Given the description of an element on the screen output the (x, y) to click on. 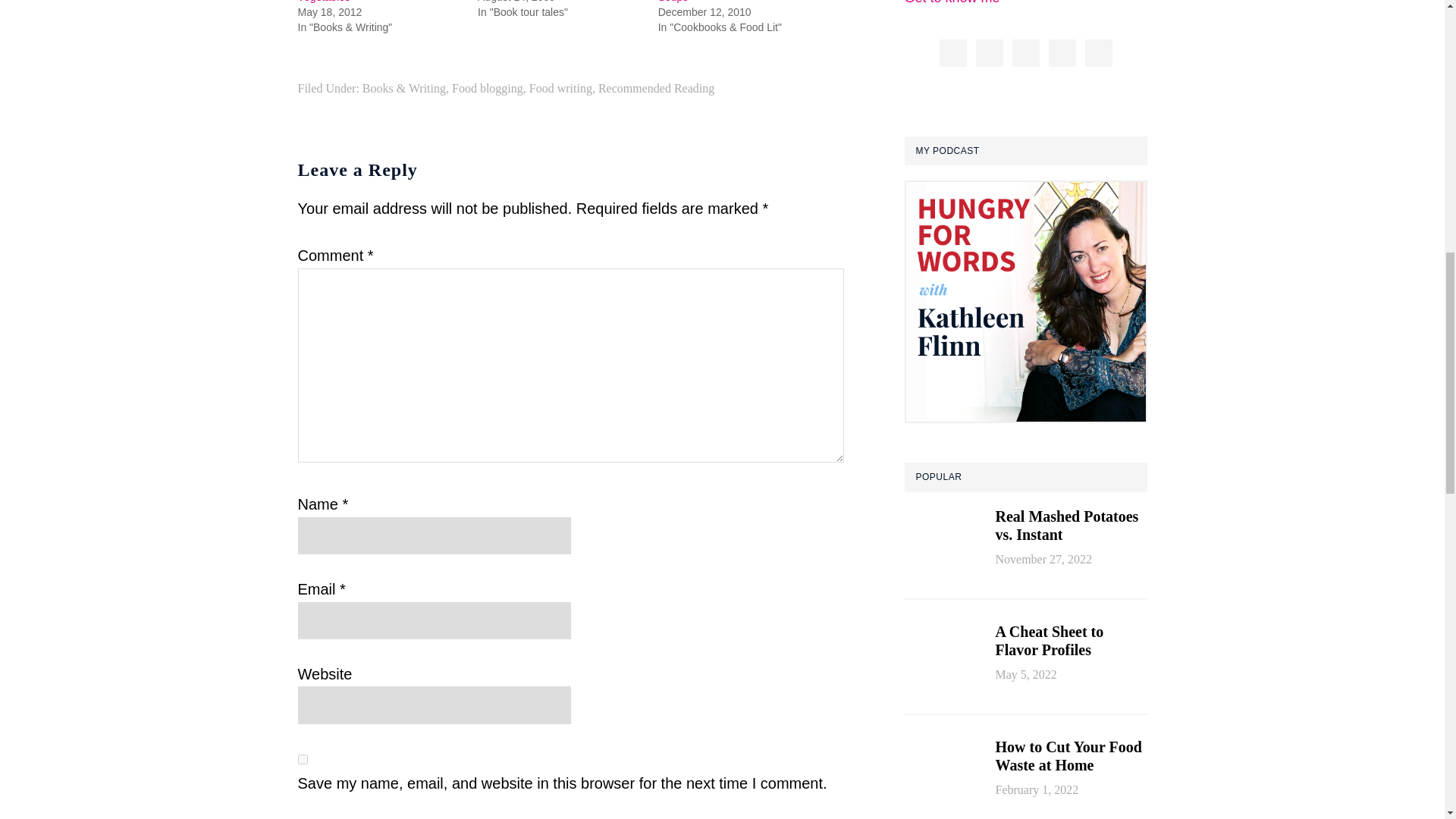
The Daily Soup Cookbook, 500 Soups (731, 1)
Friday Reads: Drink Gin, Eat Vegetables (364, 1)
yes (302, 759)
Food blogging (486, 88)
The Daily Soup Cookbook, 500 Soups (731, 1)
Recommended Reading (656, 88)
Friday Reads: Drink Gin, Eat Vegetables (364, 1)
Food writing (560, 88)
Get to know me (951, 2)
